Given the description of an element on the screen output the (x, y) to click on. 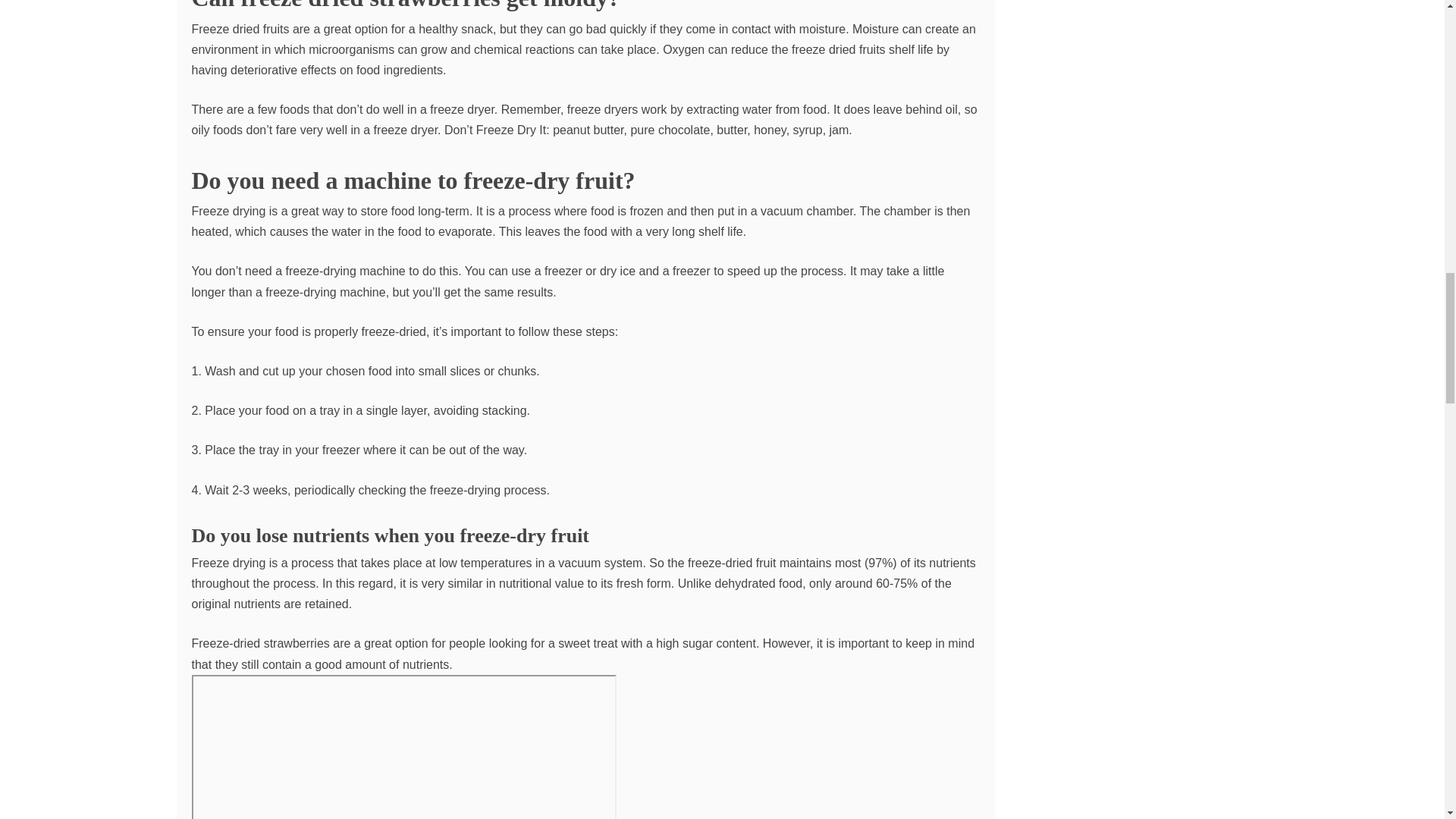
YouTube video player (402, 746)
